Given the description of an element on the screen output the (x, y) to click on. 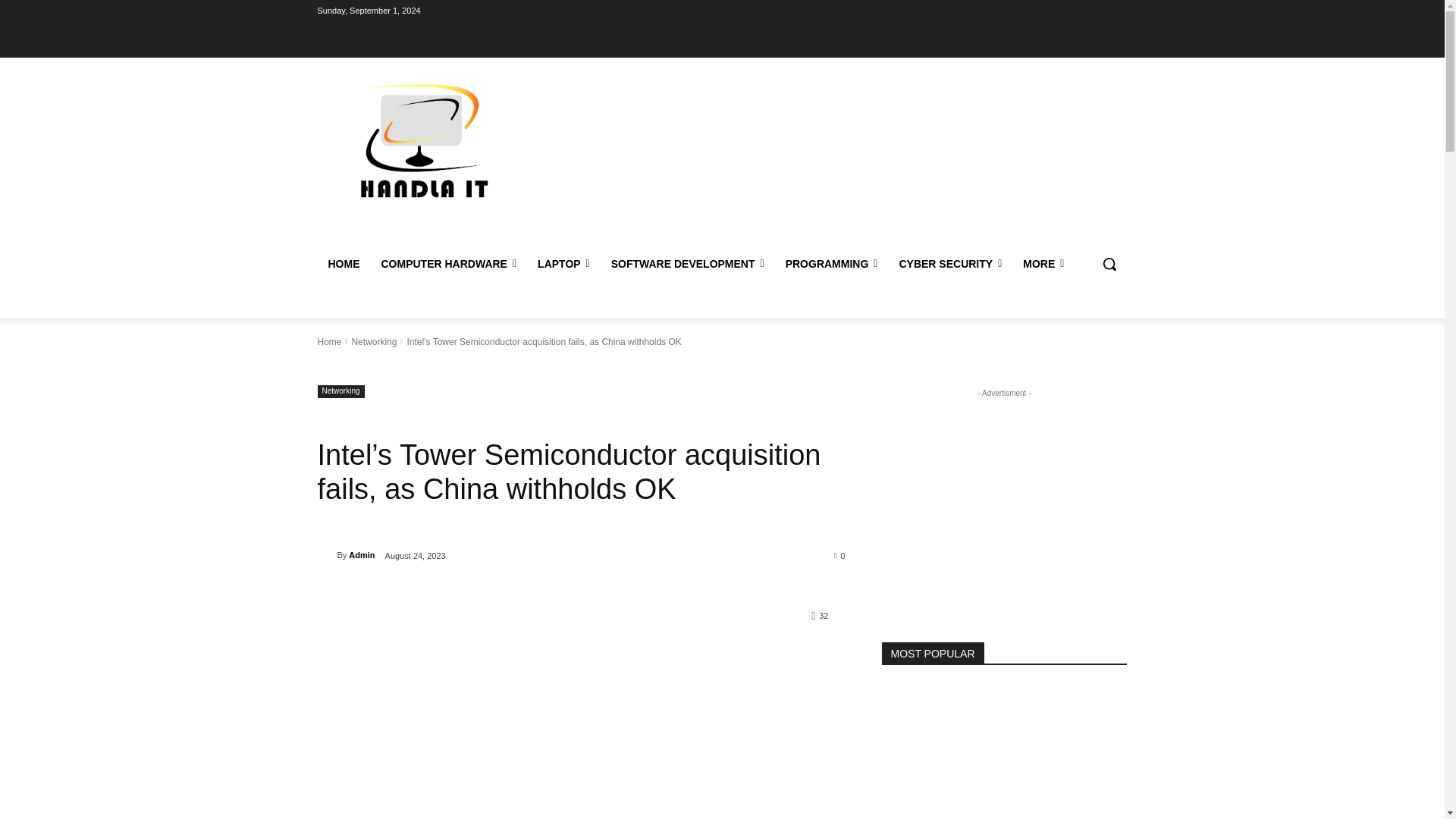
COMPUTER HARDWARE (448, 263)
Admin (326, 554)
View all posts in Networking (373, 341)
LAPTOP (563, 263)
HOME (343, 263)
